Given the description of an element on the screen output the (x, y) to click on. 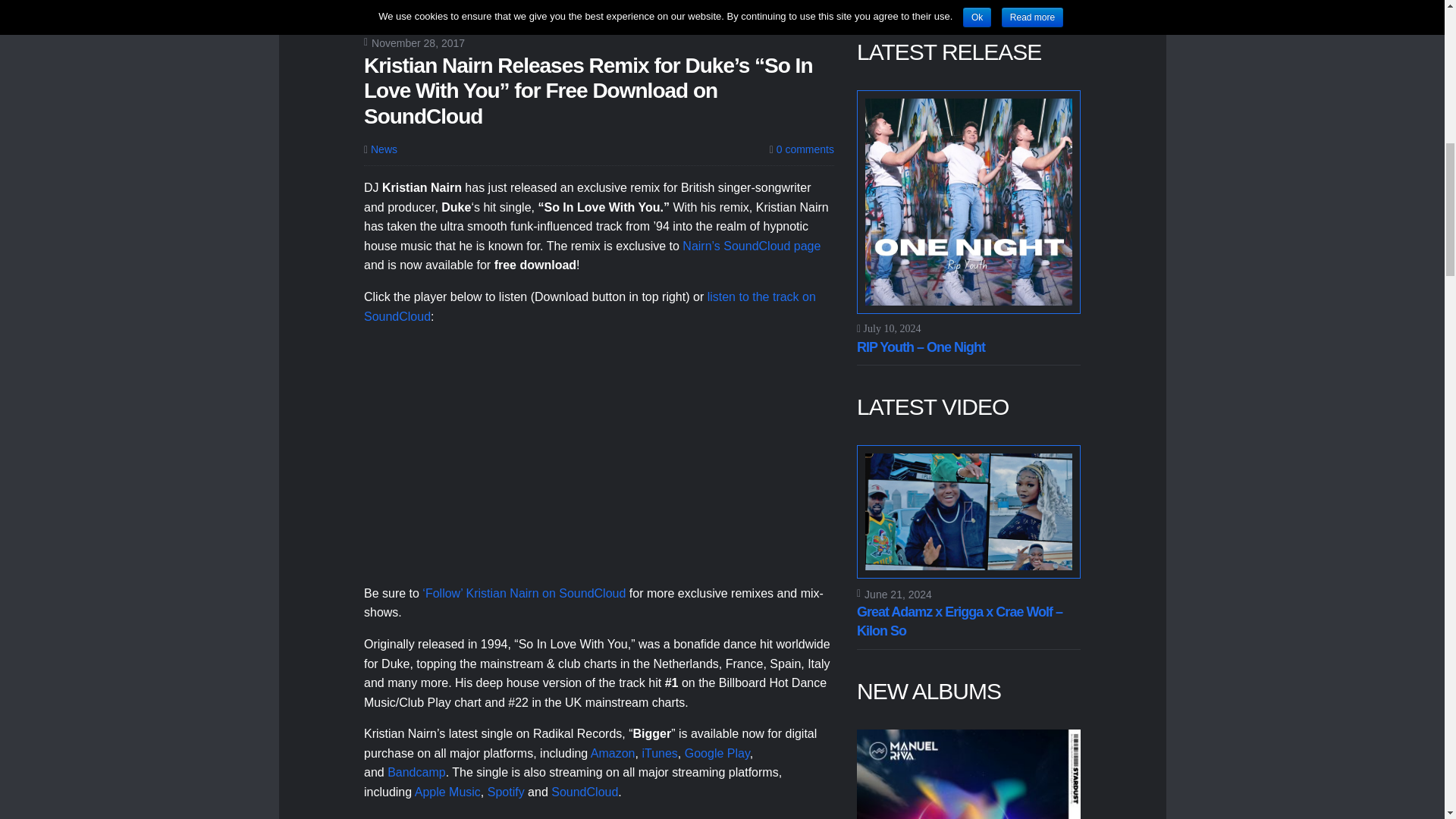
0 comments (802, 149)
News (384, 149)
